Given the description of an element on the screen output the (x, y) to click on. 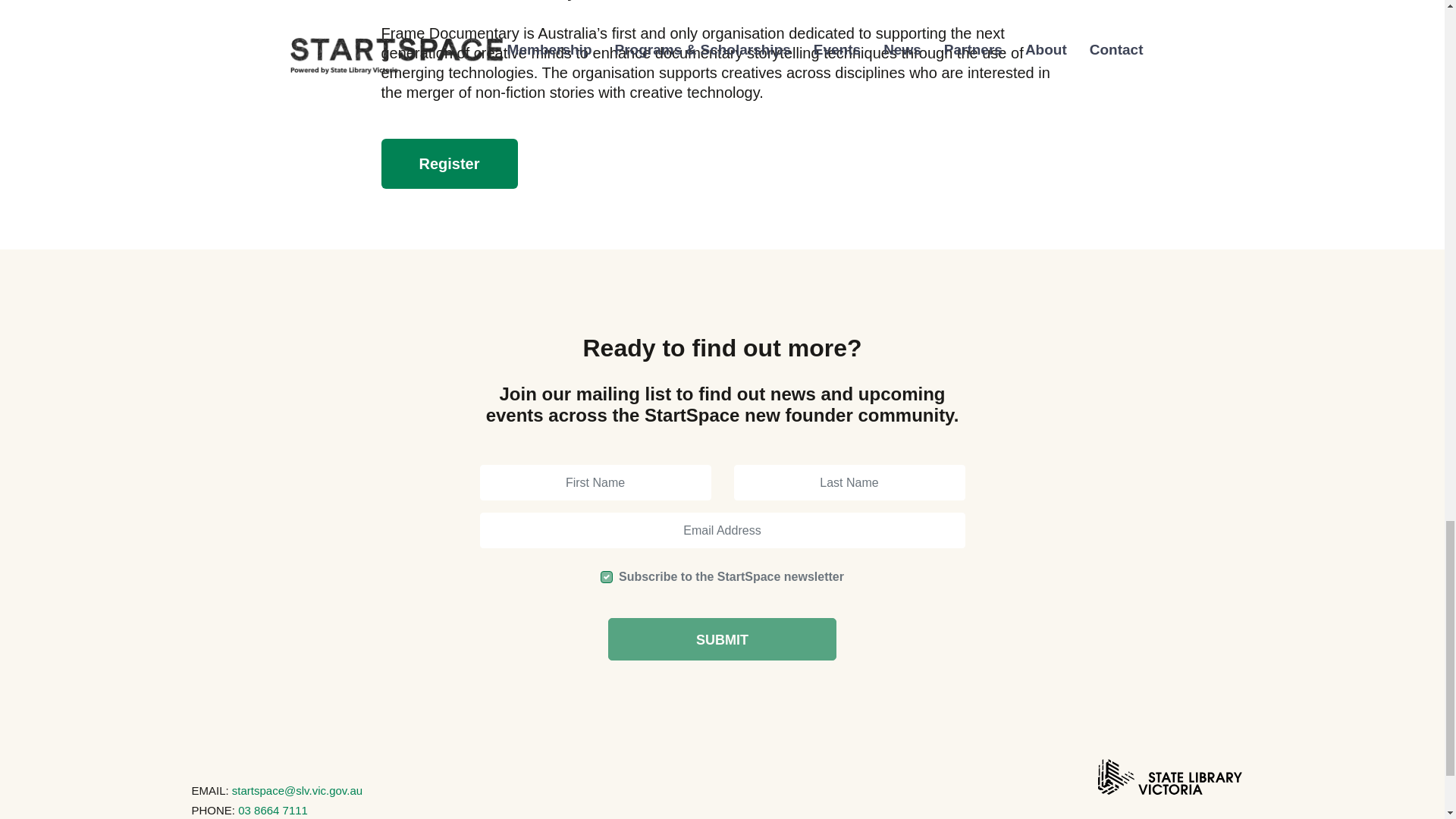
03 8664 7111 (272, 809)
SUBMIT (721, 639)
Register (448, 163)
